Given the description of an element on the screen output the (x, y) to click on. 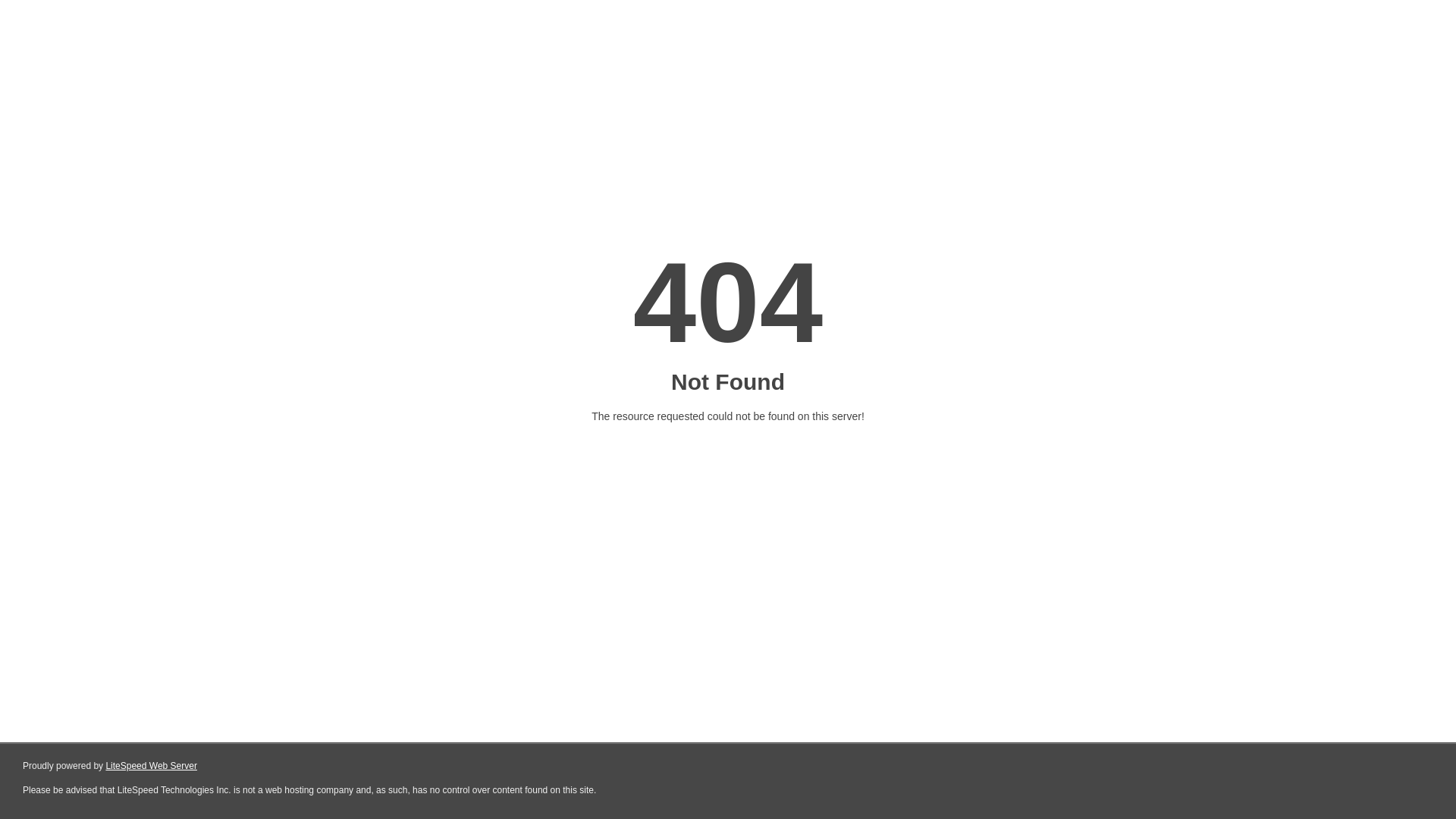
LiteSpeed Web Server Element type: text (151, 765)
